Given the description of an element on the screen output the (x, y) to click on. 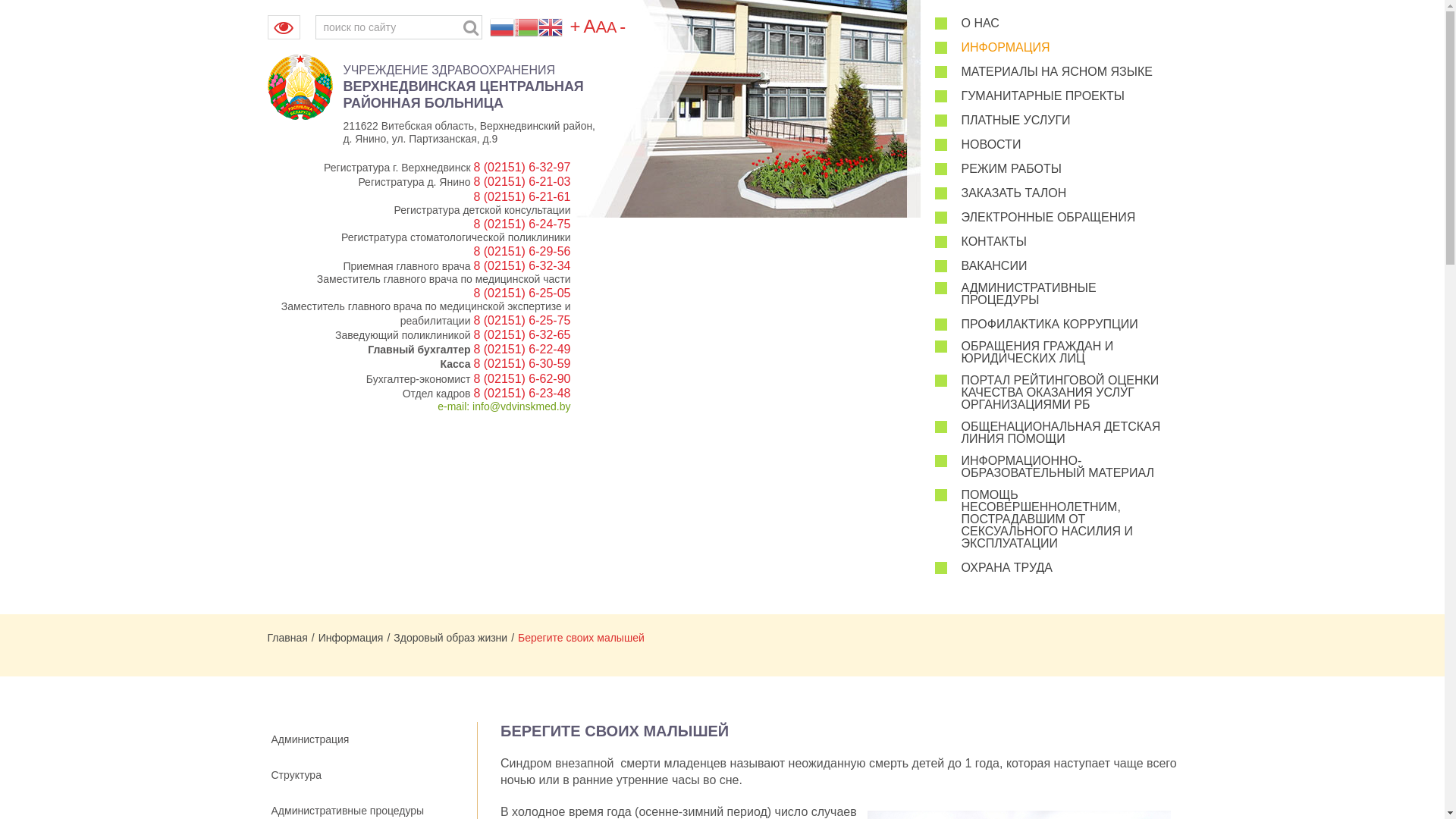
Russian Element type: hover (501, 27)
+ Element type: text (575, 28)
English Element type: hover (550, 27)
- Element type: text (622, 28)
Belarusian Element type: hover (526, 27)
info@vdvinskmed.by Element type: text (521, 406)
AAA Element type: text (599, 28)
